Given the description of an element on the screen output the (x, y) to click on. 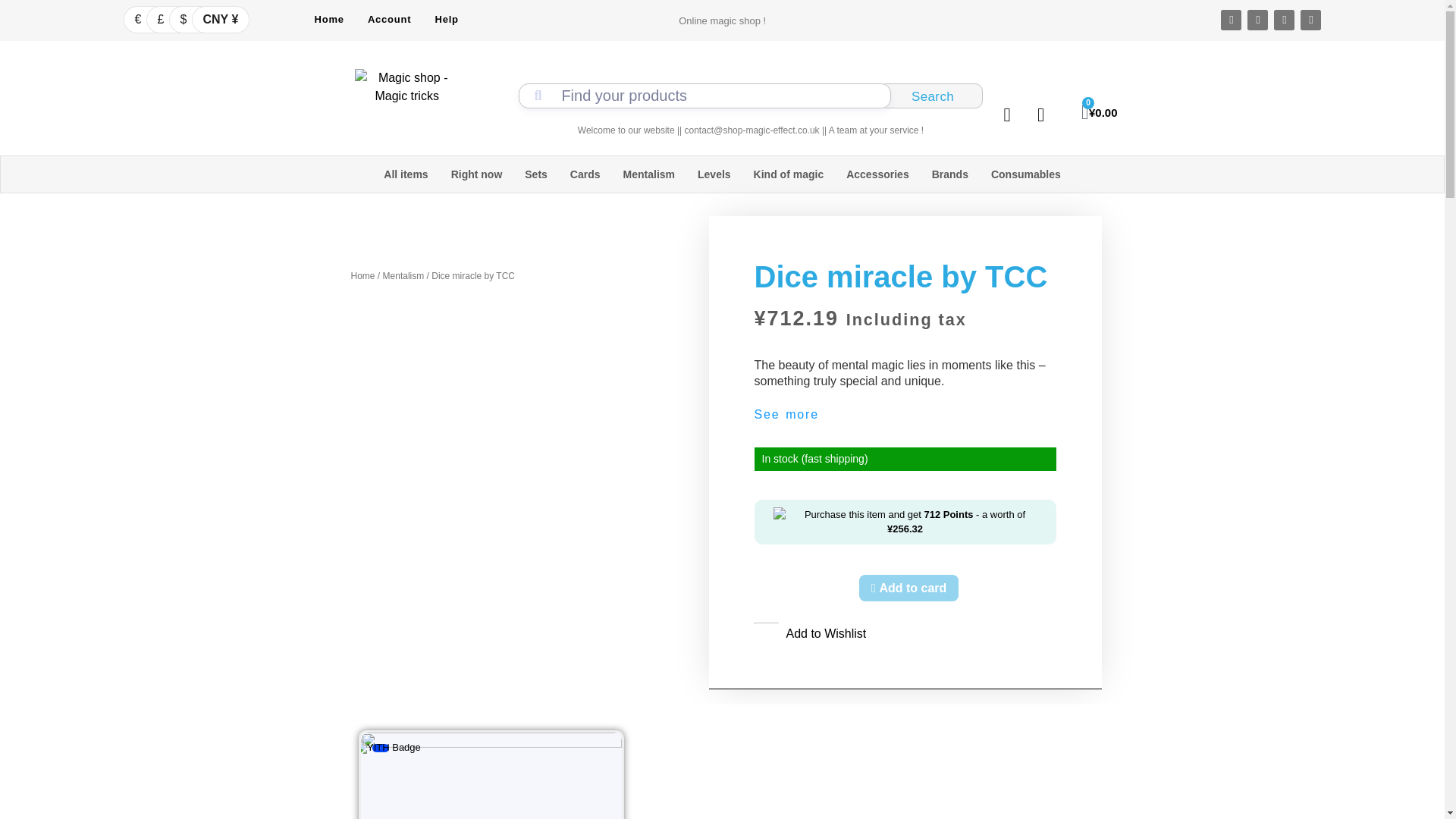
All items (406, 173)
Sets (535, 173)
Cards (584, 173)
Home (328, 19)
Right now (476, 173)
Help (445, 19)
Account (389, 19)
Search (931, 95)
